Given the description of an element on the screen output the (x, y) to click on. 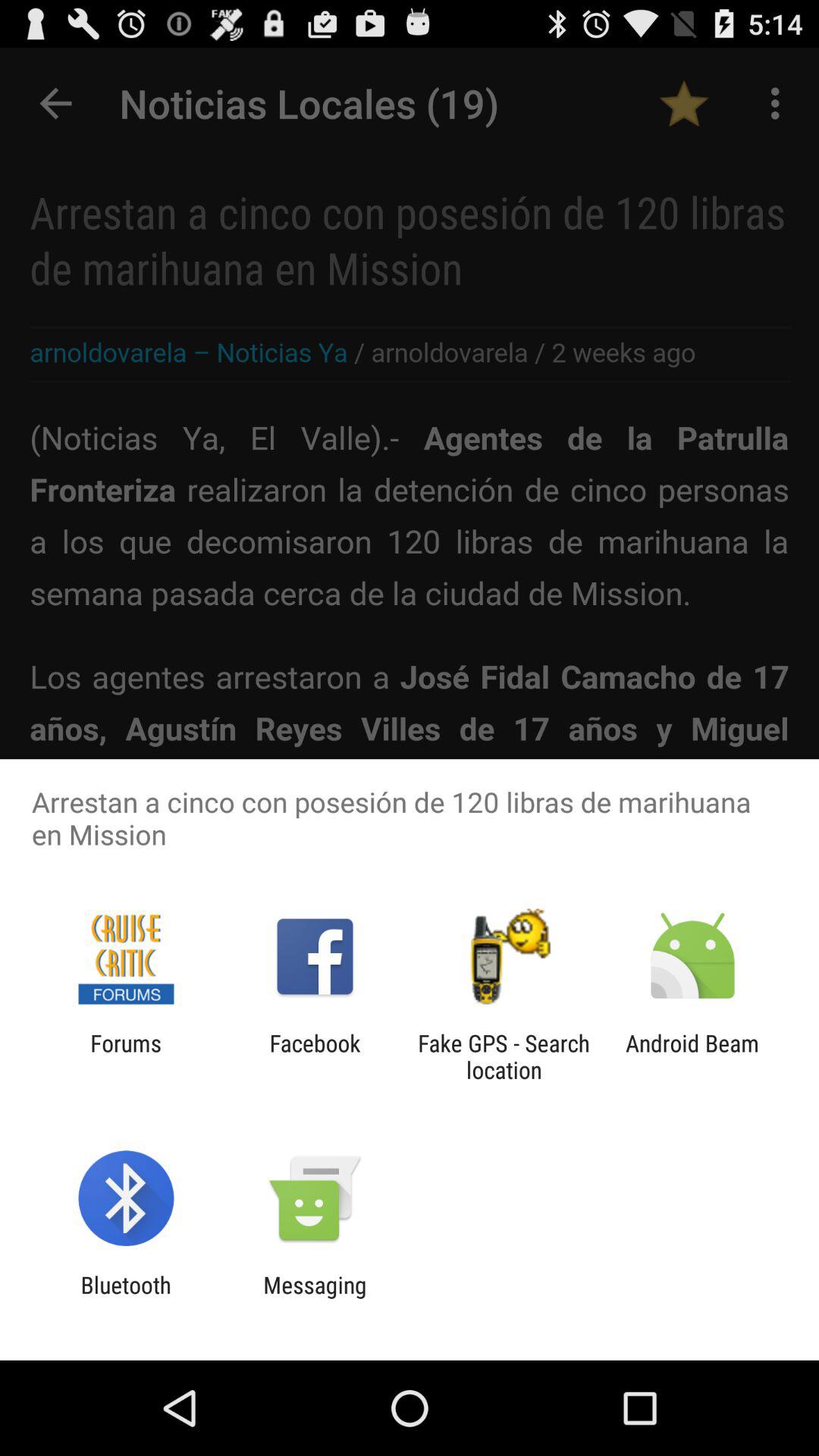
click the item at the bottom right corner (692, 1056)
